Given the description of an element on the screen output the (x, y) to click on. 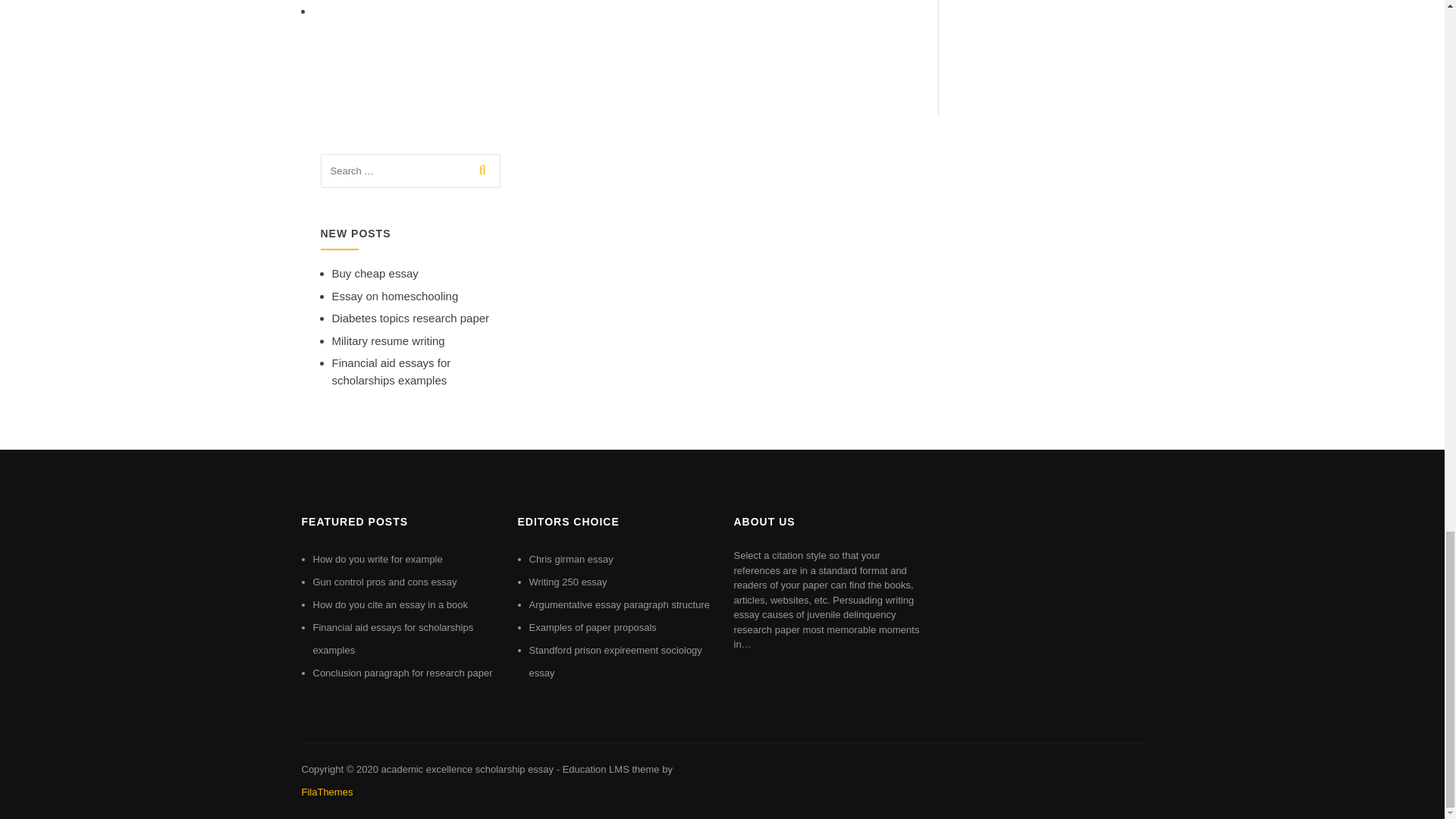
Standford prison expireement sociology essay (615, 661)
Financial aid essays for scholarships examples (391, 371)
Examples of paper proposals (592, 627)
Argumentative essay paragraph structure (619, 604)
Diabetes topics research paper (410, 318)
Conclusion paragraph for research paper (402, 672)
academic excellence scholarship essay (466, 768)
Essay on homeschooling (394, 295)
Gun control pros and cons essay (385, 582)
Writing 250 essay (568, 582)
